Given the description of an element on the screen output the (x, y) to click on. 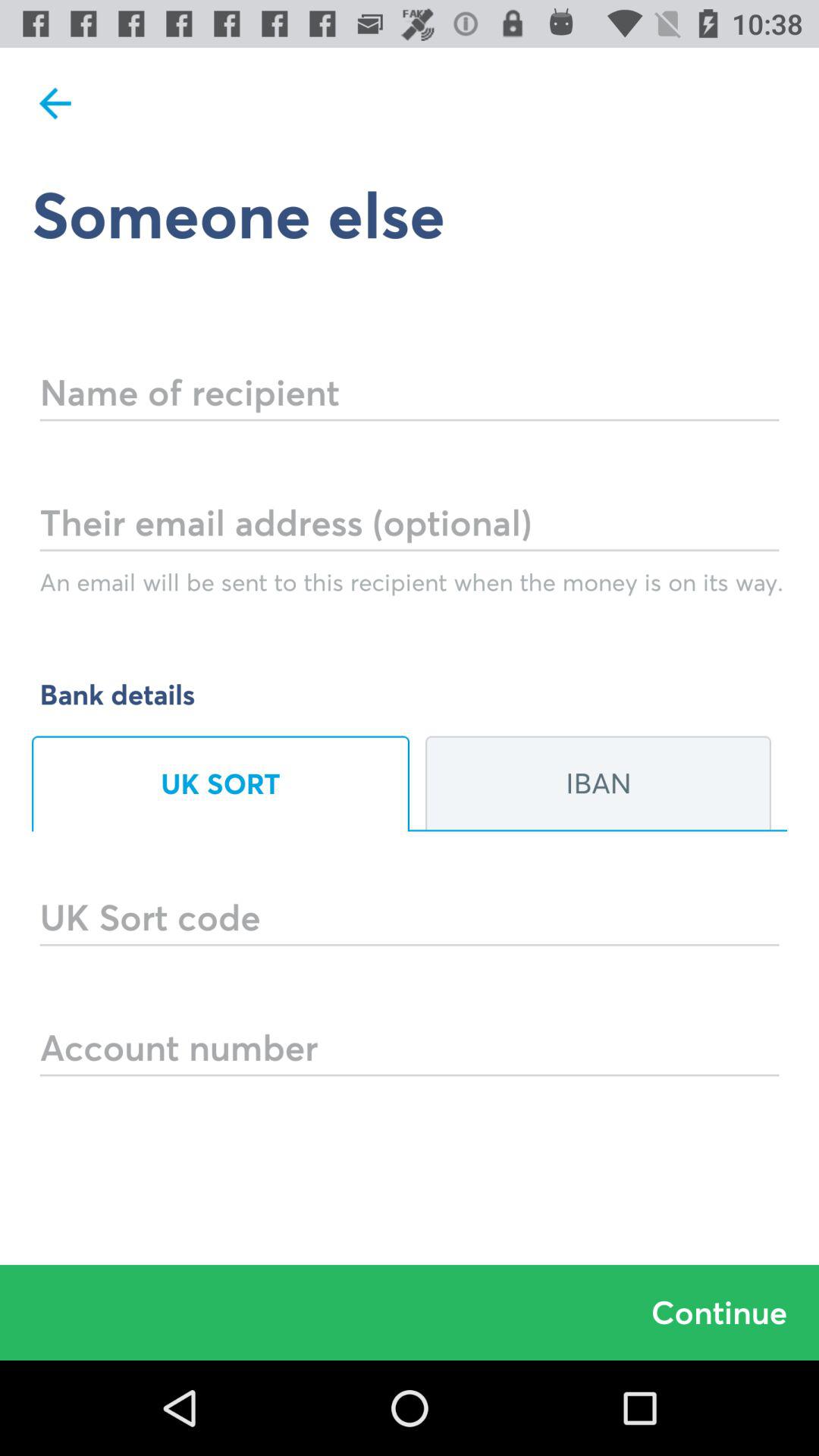
press item next to iban (220, 783)
